Given the description of an element on the screen output the (x, y) to click on. 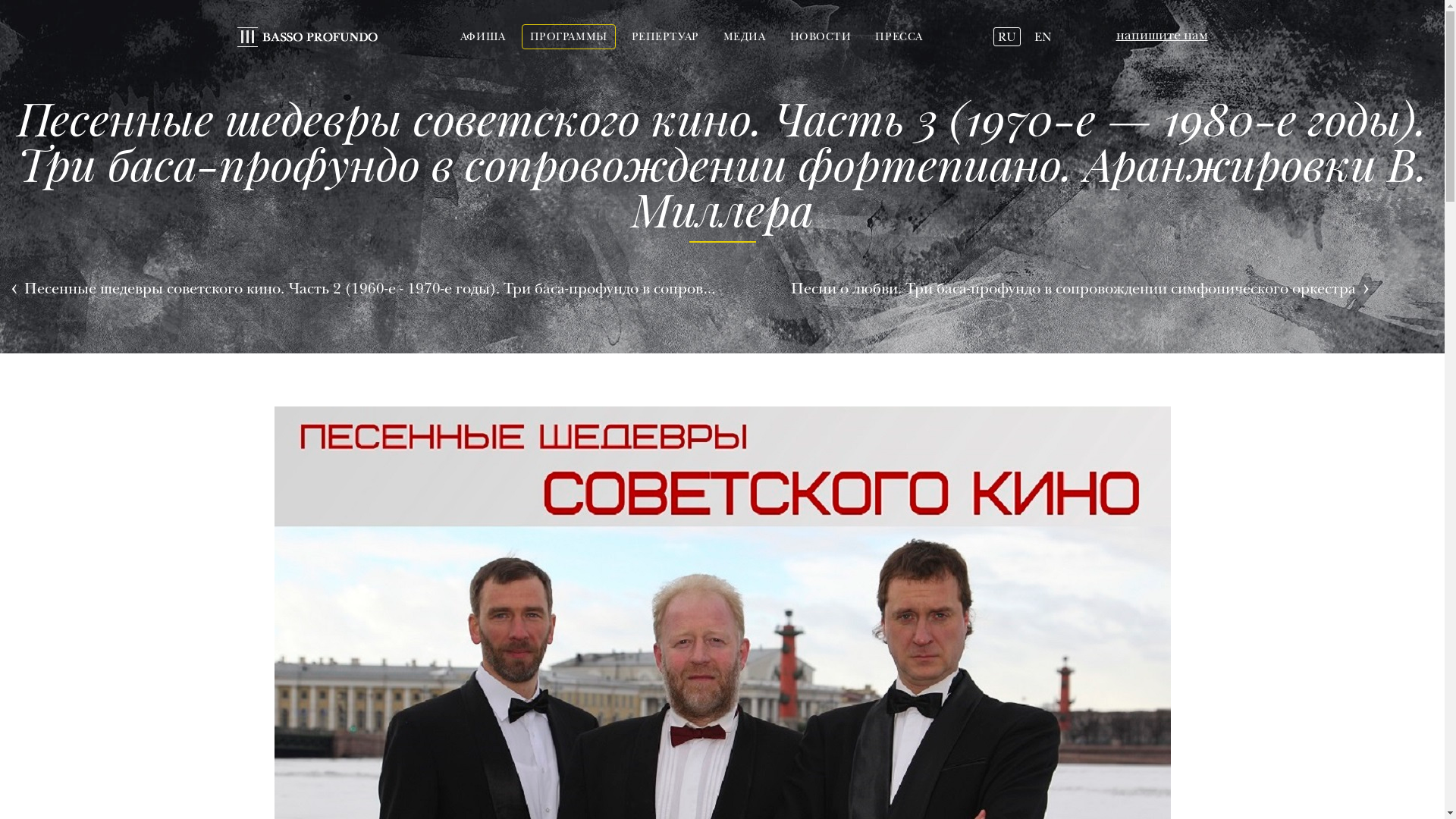
EN Element type: text (1042, 37)
RU Element type: text (1006, 37)
